Given the description of an element on the screen output the (x, y) to click on. 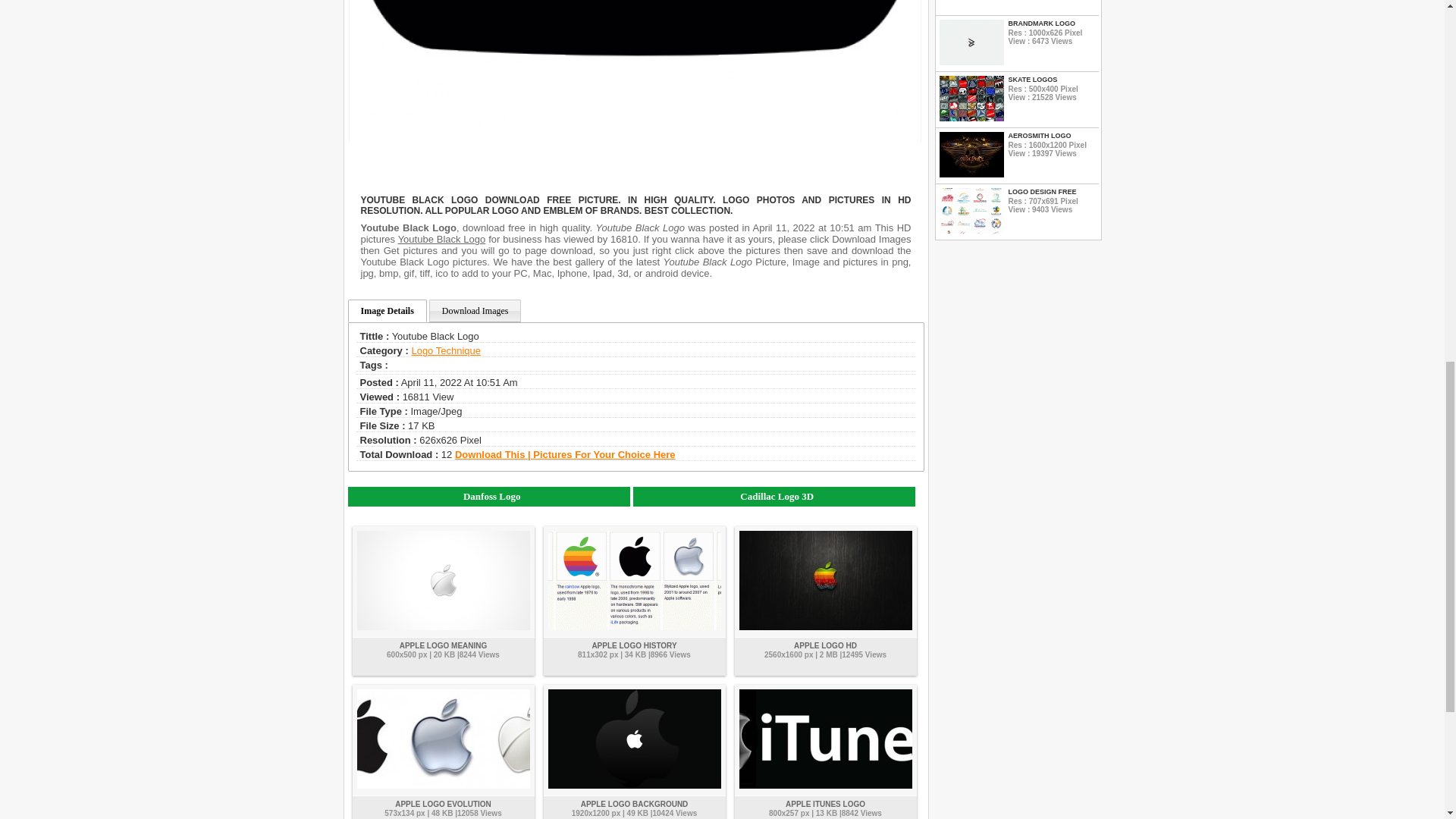
Danfoss Logo (487, 496)
SKATE LOGOS (1051, 79)
APPLE ITUNES LOGO (825, 804)
Image Details (386, 310)
Apple logo history (634, 645)
Youtube Black Logo Wallpaper (634, 72)
Apple logo meaning (442, 645)
Download Images (475, 310)
Logo Technique (445, 350)
APPLE LOGO EVOLUTION (443, 804)
APPLE LOGO BACKGROUND (634, 804)
BRANDMARK LOGO (1051, 23)
APPLE LOGO MEANING (442, 645)
APPLE LOGO HISTORY (634, 645)
Apple logo hd (825, 645)
